Given the description of an element on the screen output the (x, y) to click on. 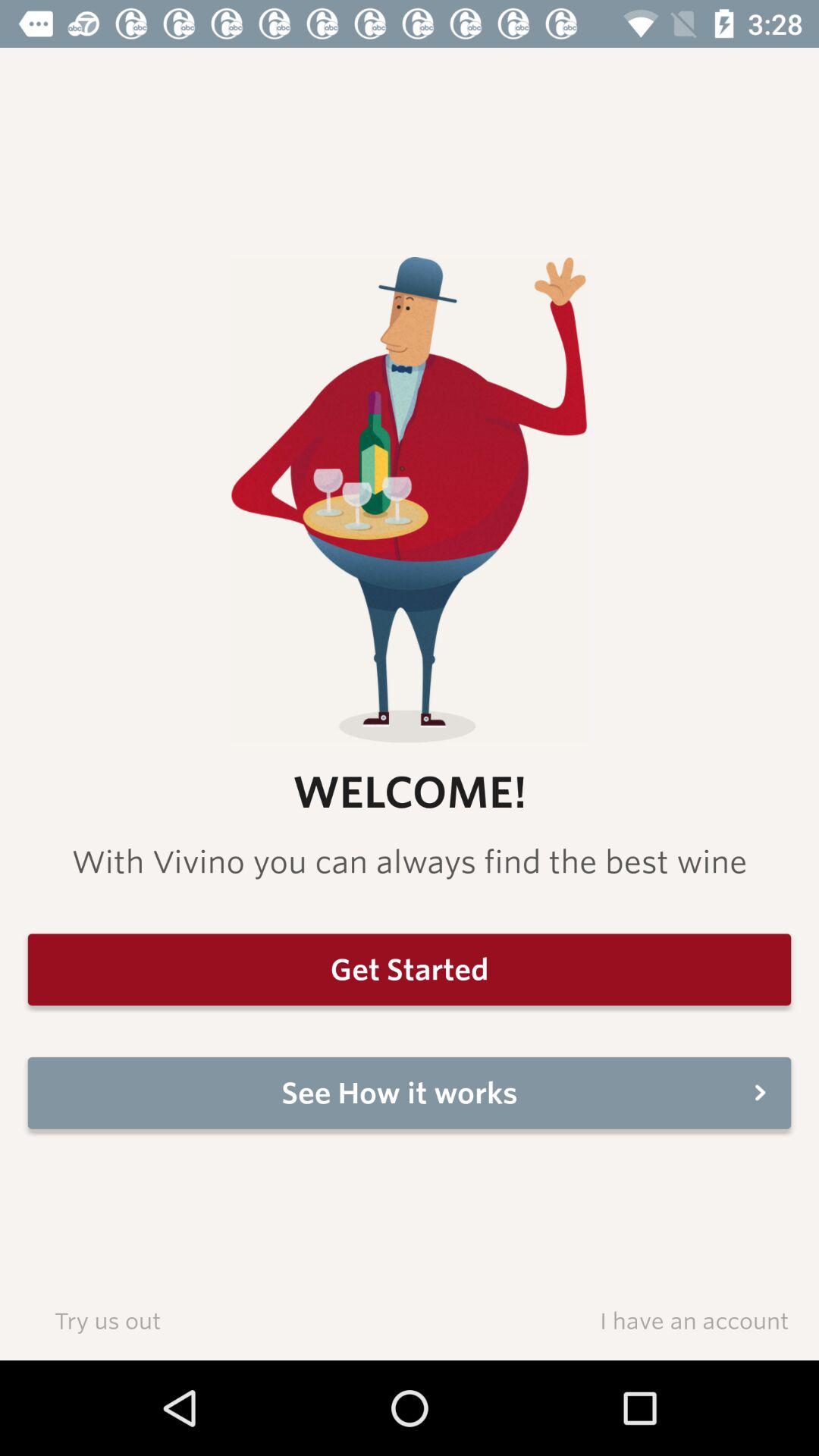
click the item above try us out icon (409, 1092)
